Given the description of an element on the screen output the (x, y) to click on. 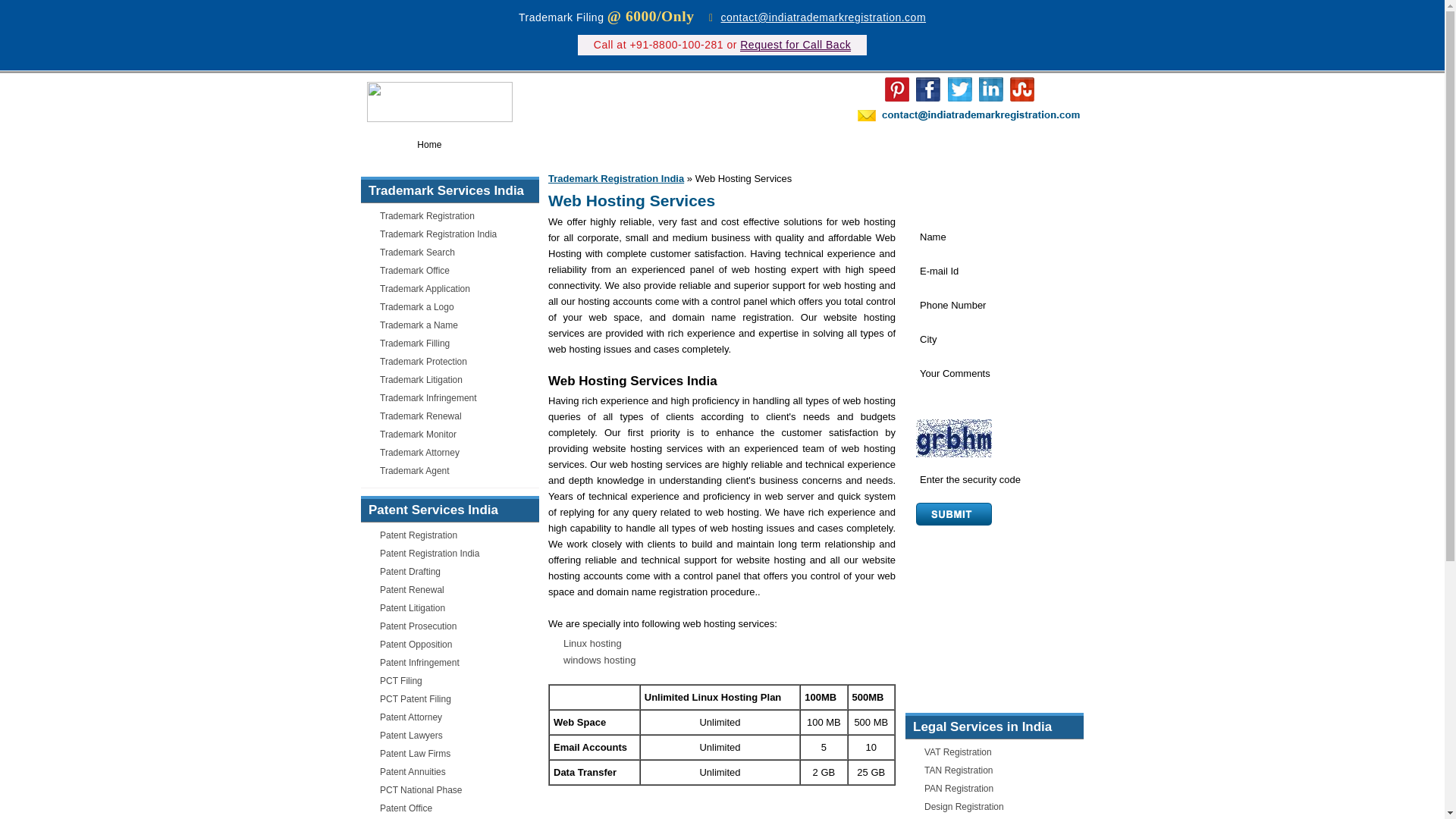
Copyright Services (722, 144)
Patent Services (619, 144)
Company Services (918, 144)
Phone Number (993, 305)
Request for Call Back (794, 44)
Name (993, 237)
City (993, 339)
LLP Services (819, 144)
Enter the security code (993, 479)
Home (429, 144)
